Given the description of an element on the screen output the (x, y) to click on. 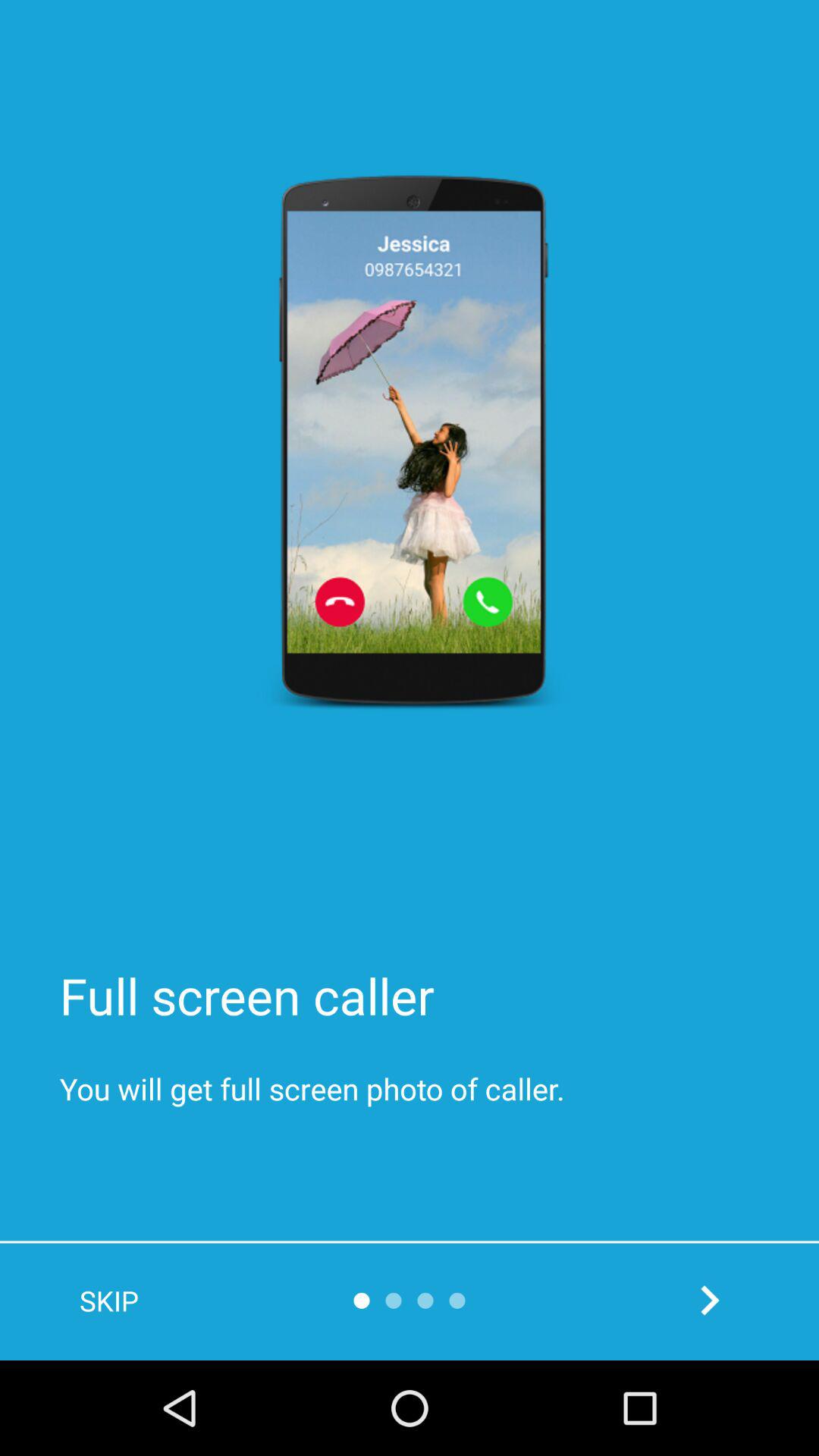
next page (709, 1300)
